Given the description of an element on the screen output the (x, y) to click on. 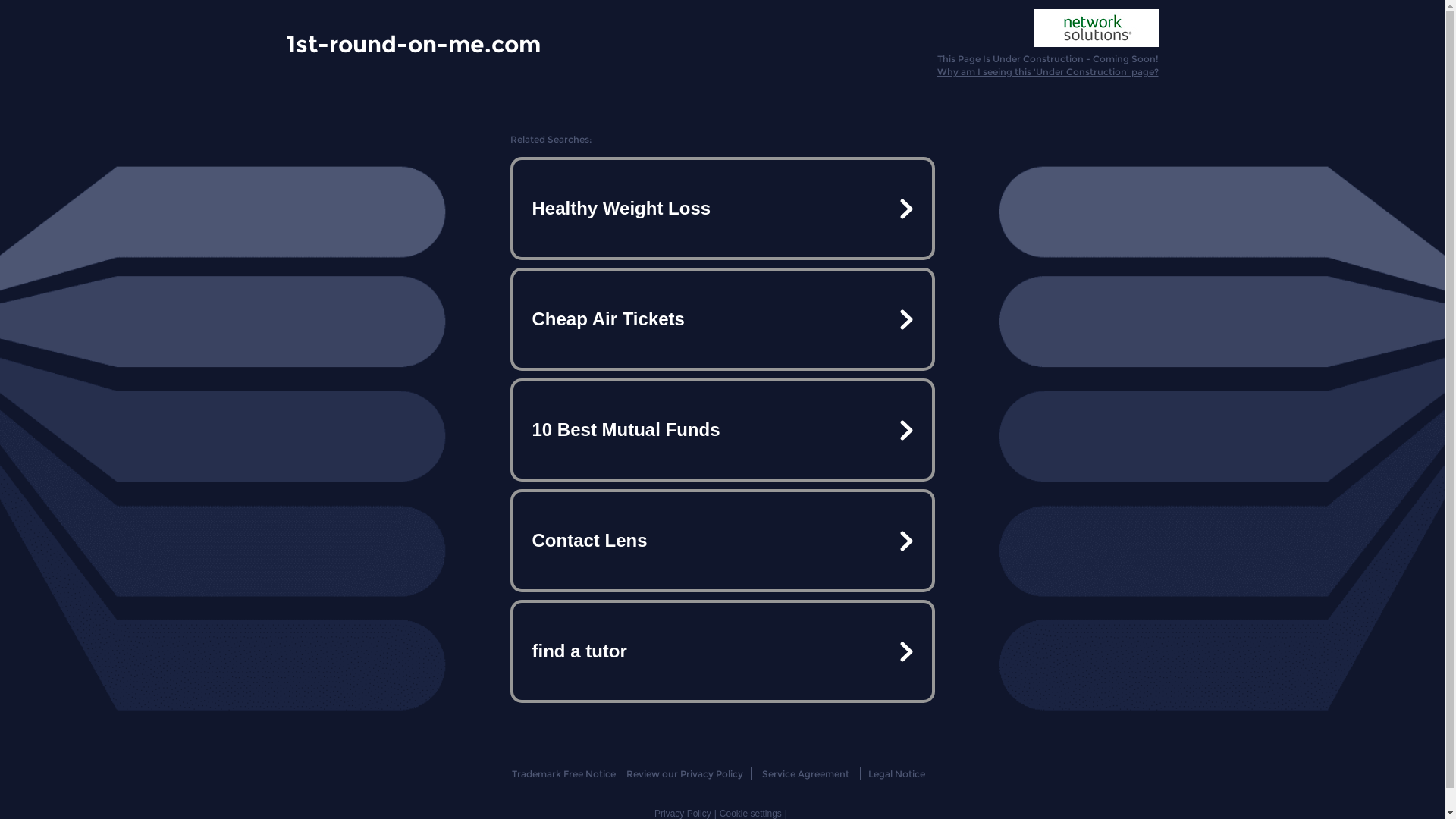
Trademark Free Notice Element type: text (563, 773)
Review our Privacy Policy Element type: text (684, 773)
10 Best Mutual Funds Element type: text (721, 429)
Why am I seeing this 'Under Construction' page? Element type: text (1047, 71)
Service Agreement Element type: text (805, 773)
find a tutor Element type: text (721, 650)
Legal Notice Element type: text (896, 773)
Healthy Weight Loss Element type: text (721, 208)
Cheap Air Tickets Element type: text (721, 318)
1st-round-on-me.com Element type: text (413, 43)
Contact Lens Element type: text (721, 540)
